Given the description of an element on the screen output the (x, y) to click on. 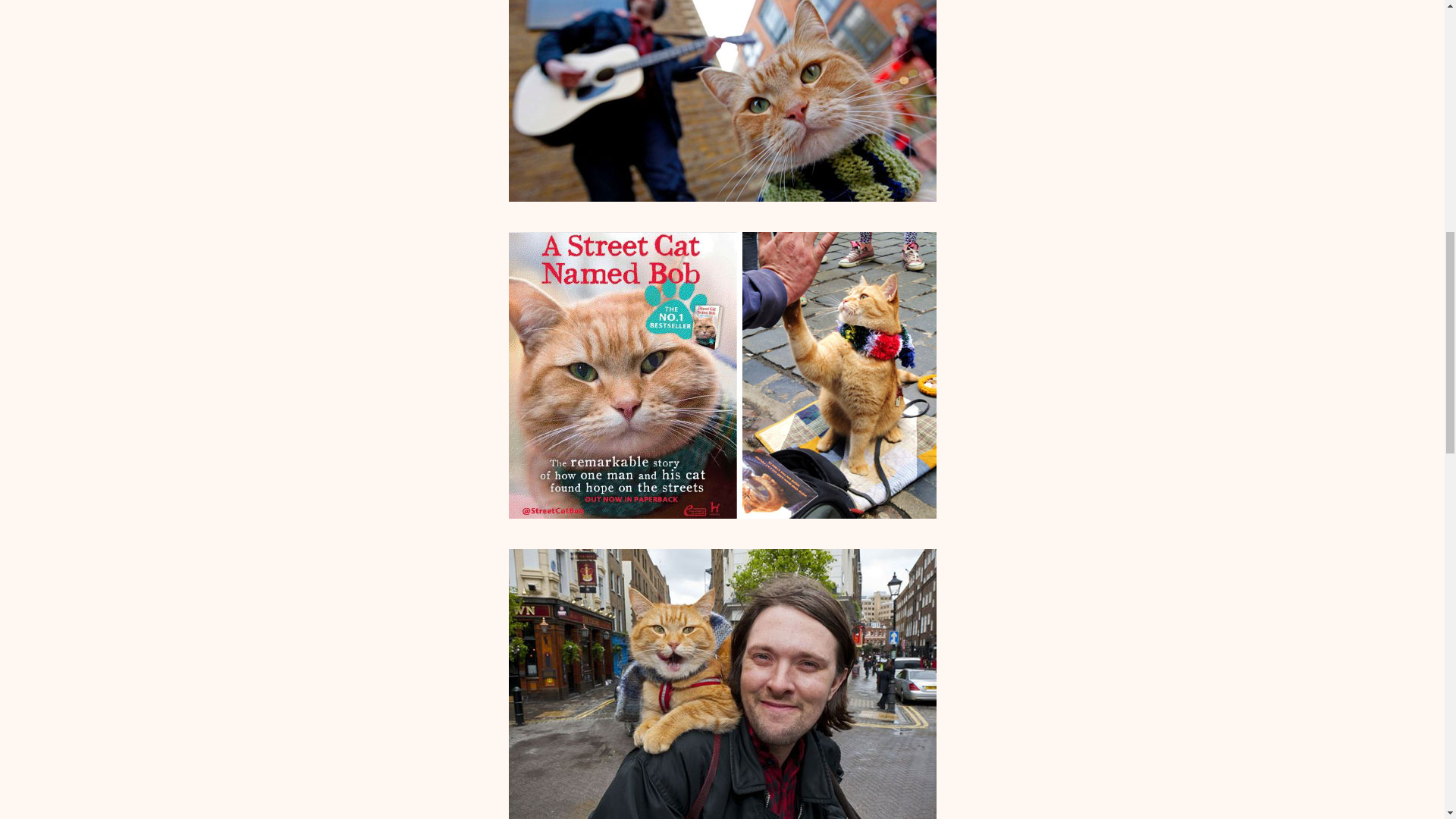
Bob3 (722, 683)
Bob2 (722, 374)
Bob1 (722, 100)
